Given the description of an element on the screen output the (x, y) to click on. 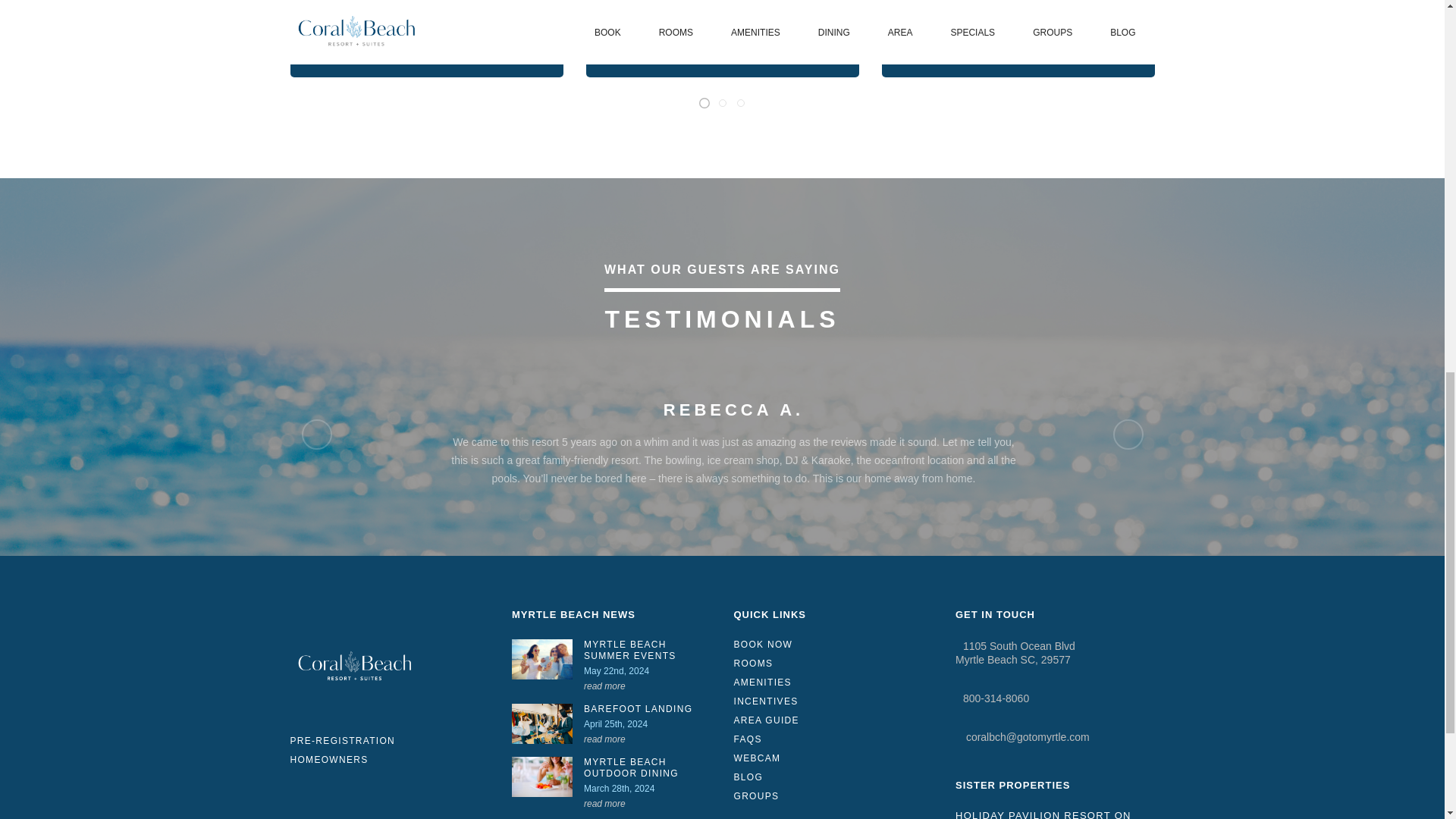
read more (604, 803)
VIEW SPECIALS (349, 41)
INCENTIVES (833, 701)
BOOK NOW (833, 644)
read more (604, 685)
PRE-REGISTRATION (341, 740)
MYRTLE BEACH SUMMER EVENTS (647, 650)
MYRTLE BEACH OUTDOOR DINING (647, 767)
HOMEOWNERS (341, 759)
BOOK NOW (636, 41)
AMENITIES (833, 682)
ROOMS (833, 663)
BAREFOOT LANDING (647, 708)
VIEW SPECIALS (940, 41)
read more (604, 738)
